Given the description of an element on the screen output the (x, y) to click on. 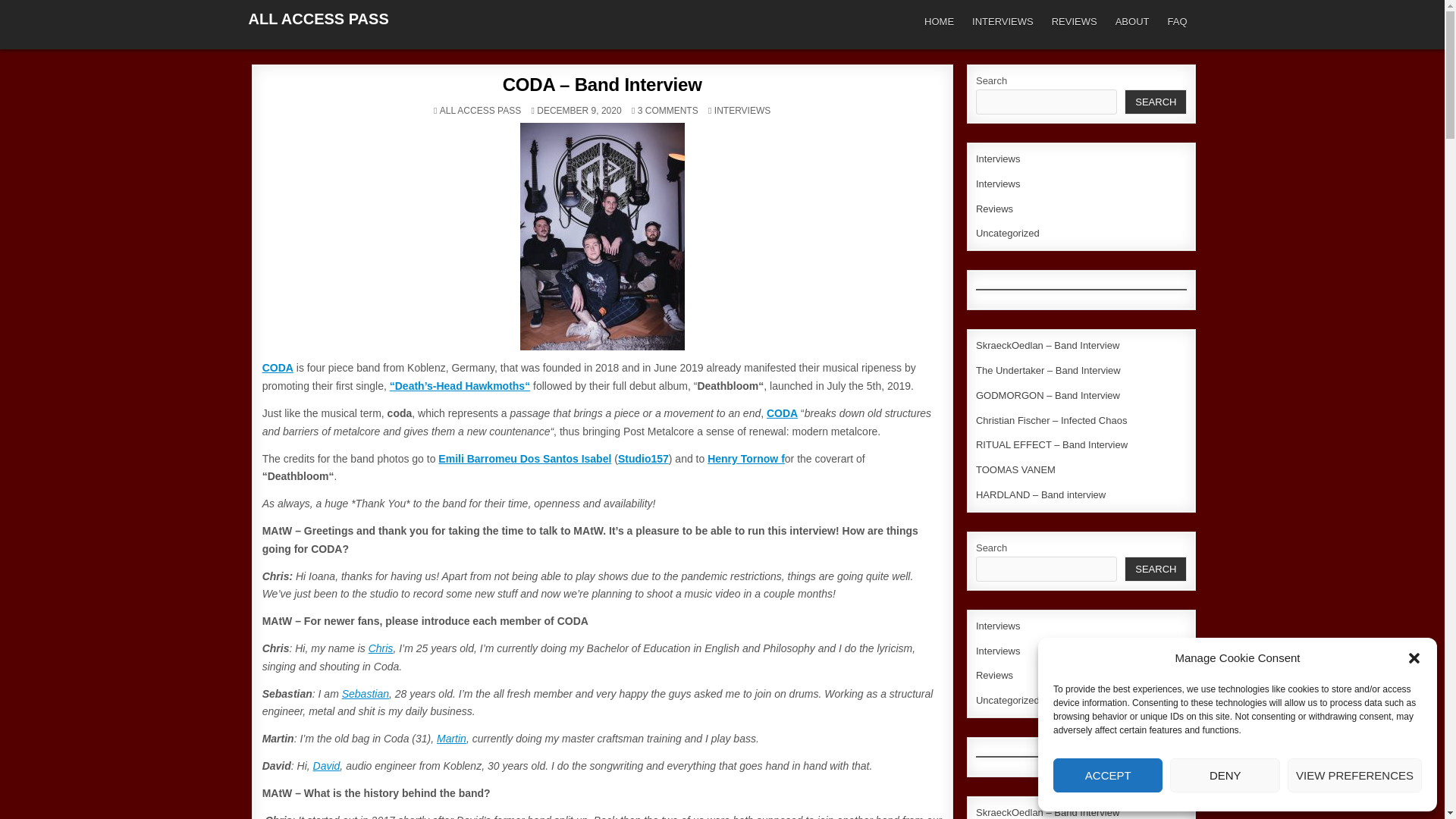
HOME (938, 21)
Studio157 (642, 458)
ACCEPT (1106, 775)
REVIEWS (1074, 21)
ALL ACCESS PASS (480, 110)
ABOUT (1132, 21)
Martin (450, 738)
INTERVIEWS (1002, 21)
CODA (278, 367)
FAQ (1176, 21)
VIEW PREFERENCES (1354, 775)
Chris (380, 648)
DENY (1224, 775)
CODA (782, 413)
Henry Tornow f (745, 458)
